Given the description of an element on the screen output the (x, y) to click on. 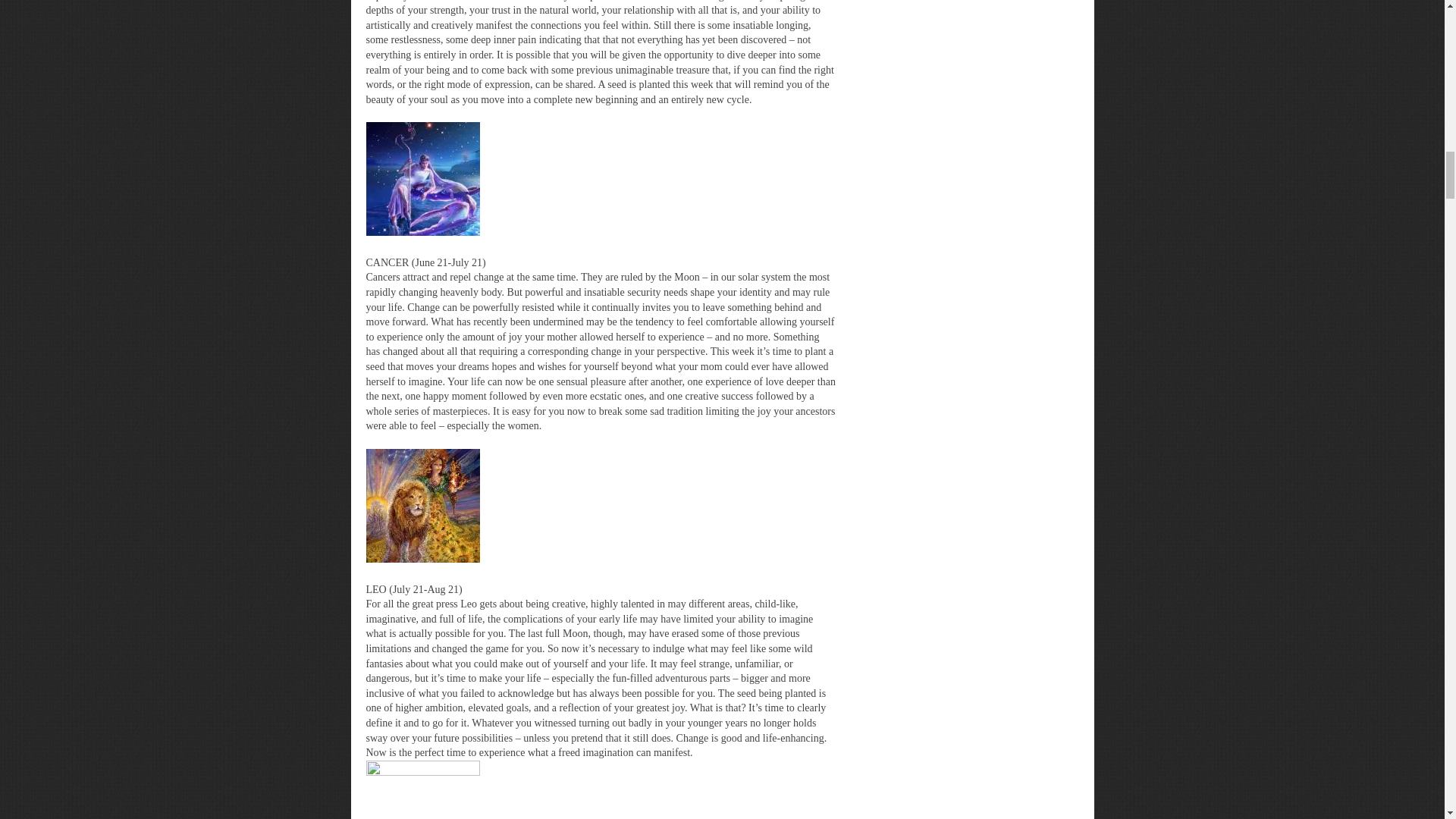
cancer-zodiac-sign (422, 178)
virgo (422, 789)
